Given the description of an element on the screen output the (x, y) to click on. 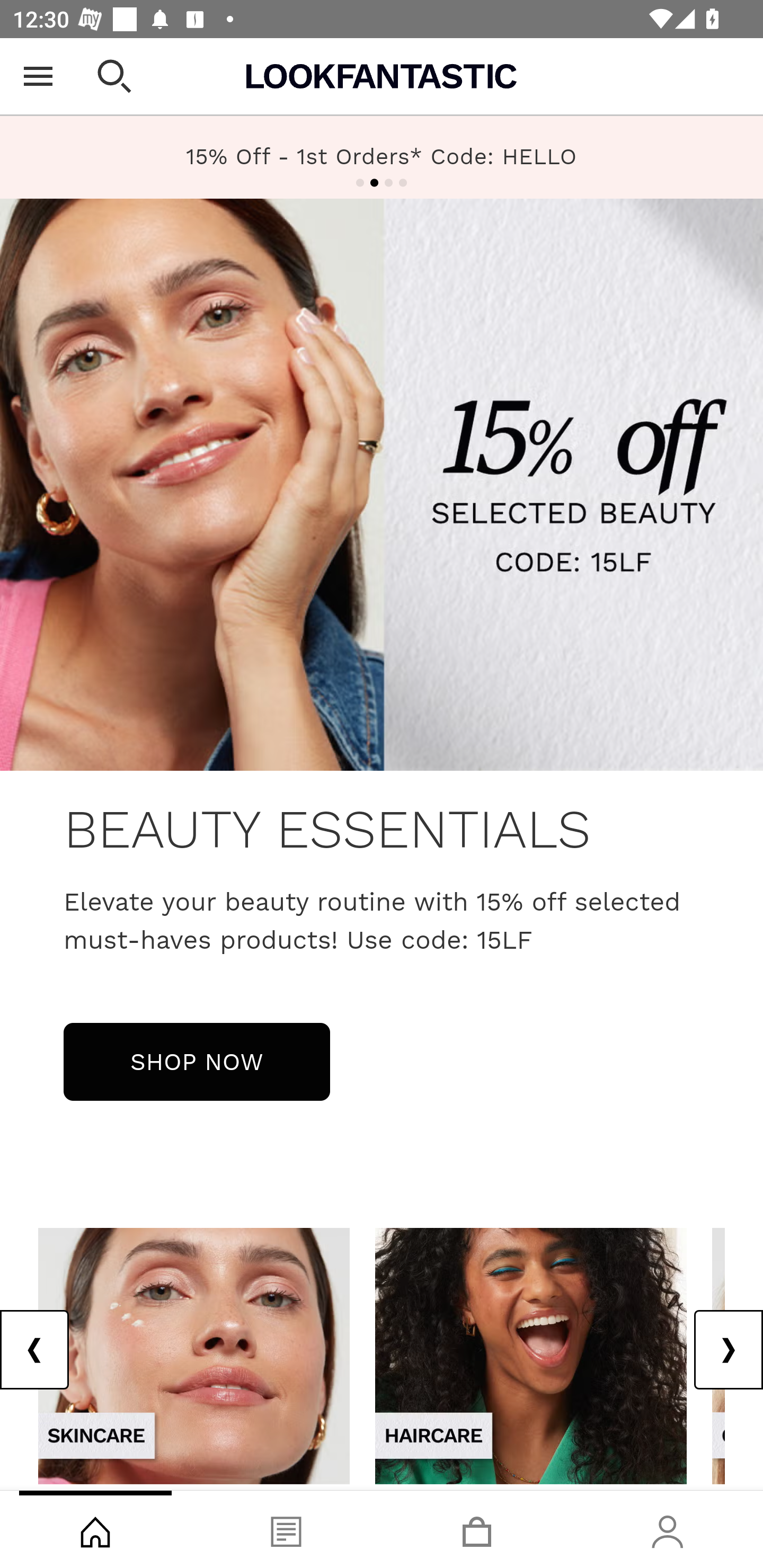
Open Menu (38, 75)
Open search (114, 75)
Lookfantastic USA (381, 75)
SHOP NOW (196, 1061)
view-all (193, 1355)
view-all (530, 1355)
Previous (35, 1349)
Next (727, 1349)
Shop, tab, 1 of 4 (95, 1529)
Blog, tab, 2 of 4 (285, 1529)
Basket, tab, 3 of 4 (476, 1529)
Account, tab, 4 of 4 (667, 1529)
